Given the description of an element on the screen output the (x, y) to click on. 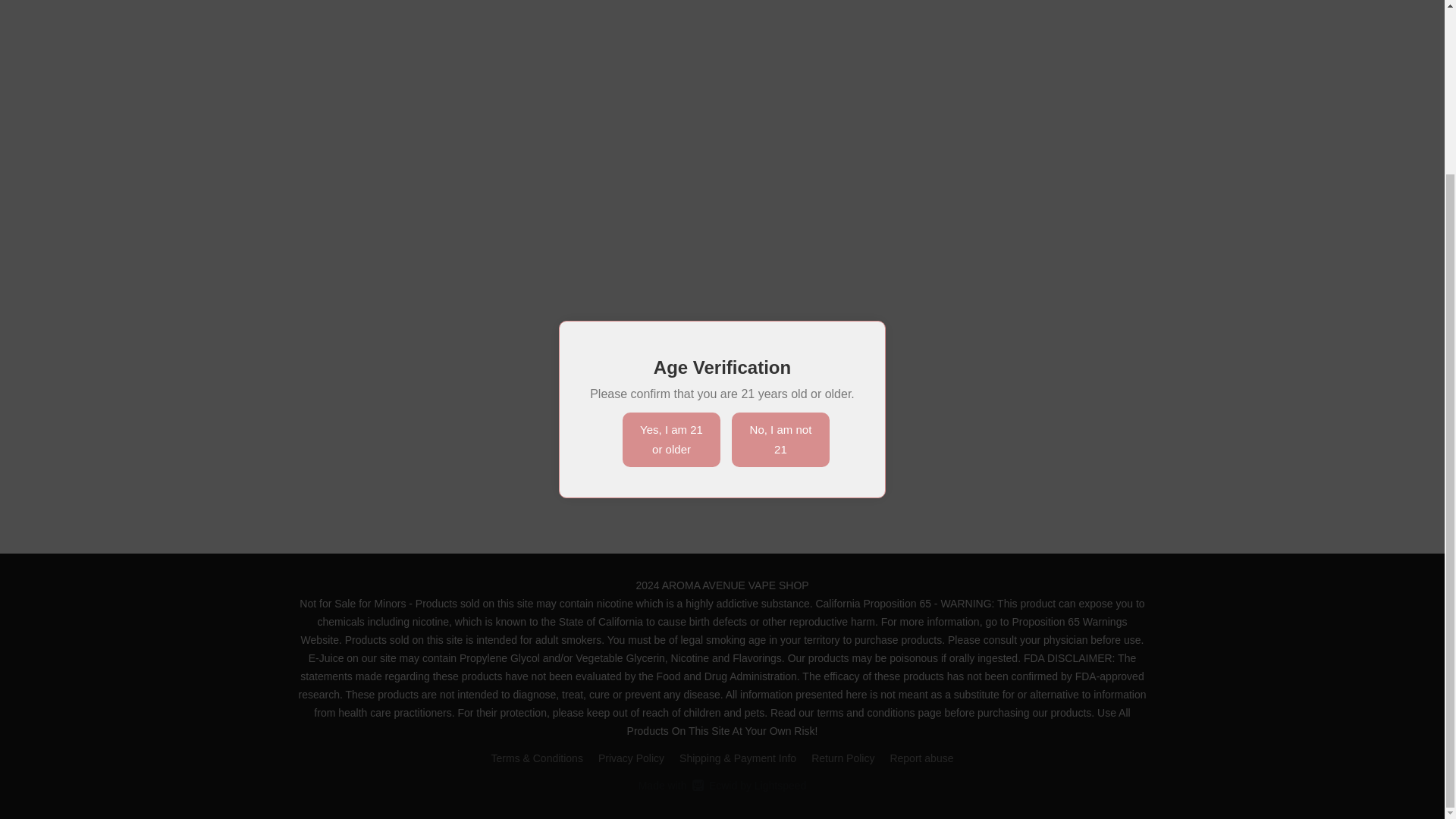
No, I am not 21 (780, 228)
Yes, I am 21 or older (671, 228)
Privacy Policy (722, 785)
Return Policy (630, 758)
Report abuse (842, 758)
